Given the description of an element on the screen output the (x, y) to click on. 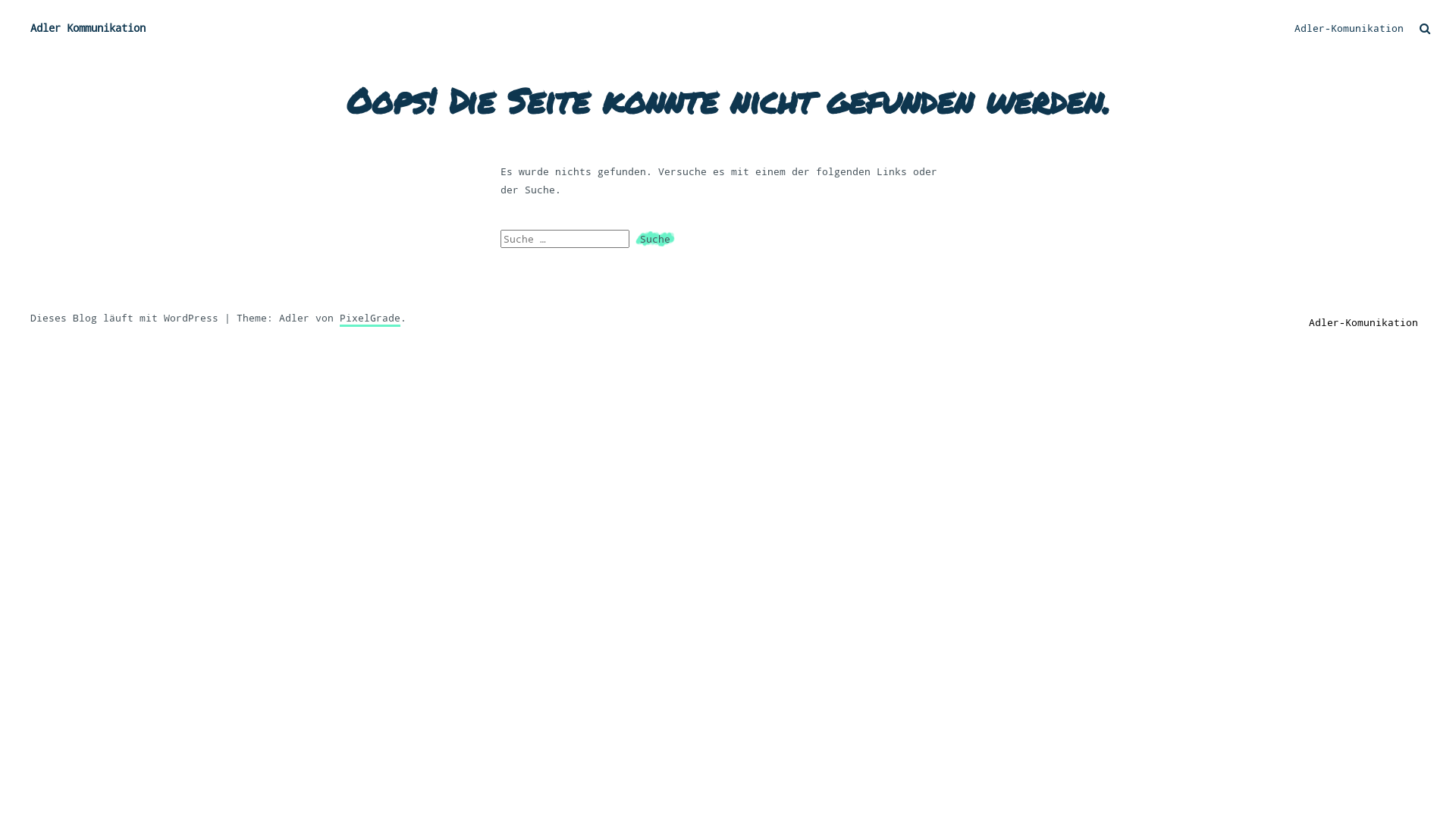
Suche Element type: text (654, 238)
Adler Kommunikation Element type: text (168, 27)
Adler-Komunikation Element type: text (1348, 27)
PixelGrade Element type: text (369, 318)
Adler-Komunikation Element type: text (1363, 322)
